Given the description of an element on the screen output the (x, y) to click on. 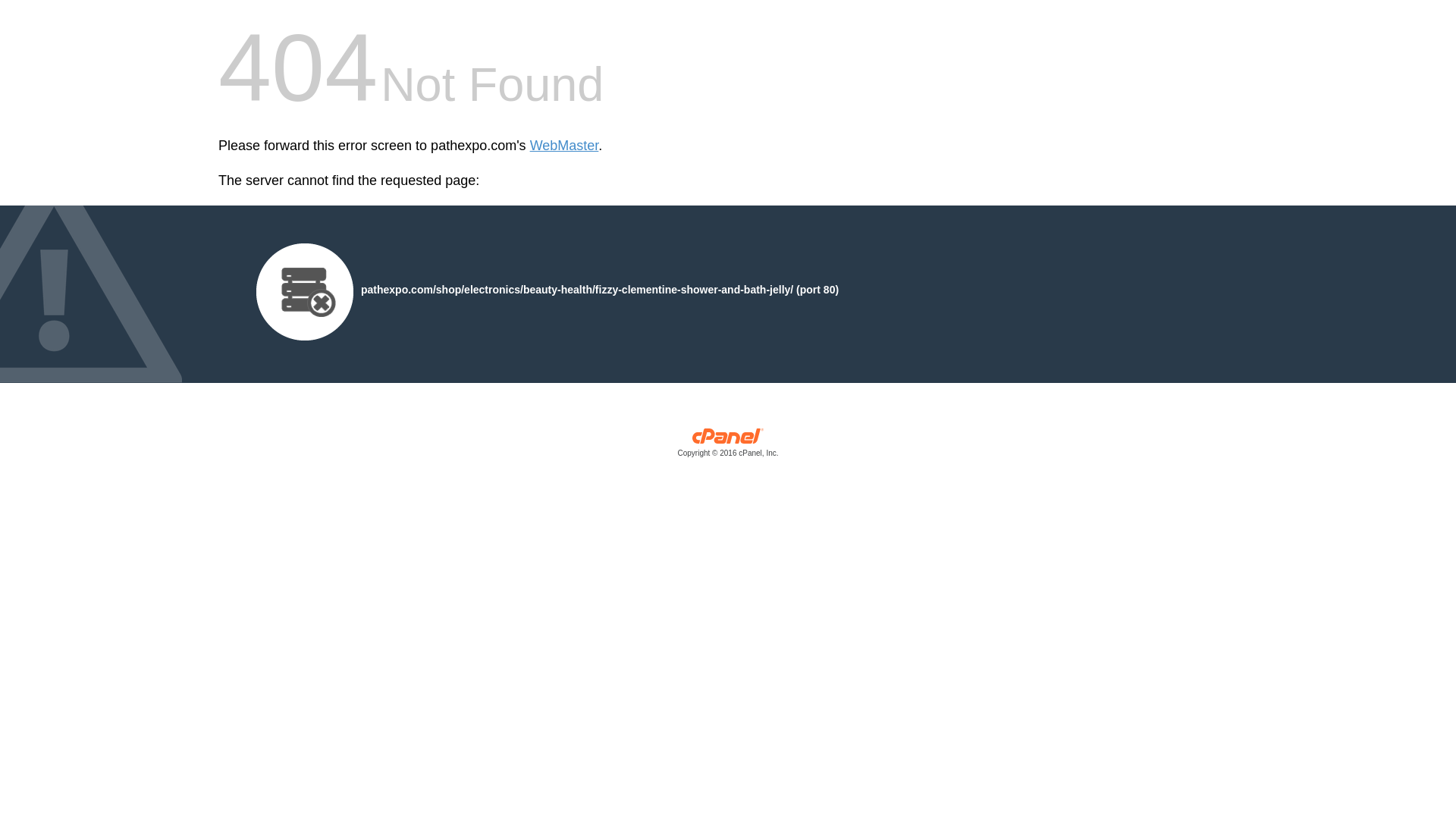
WebMaster (563, 145)
cPanel, Inc. (727, 446)
